Given the description of an element on the screen output the (x, y) to click on. 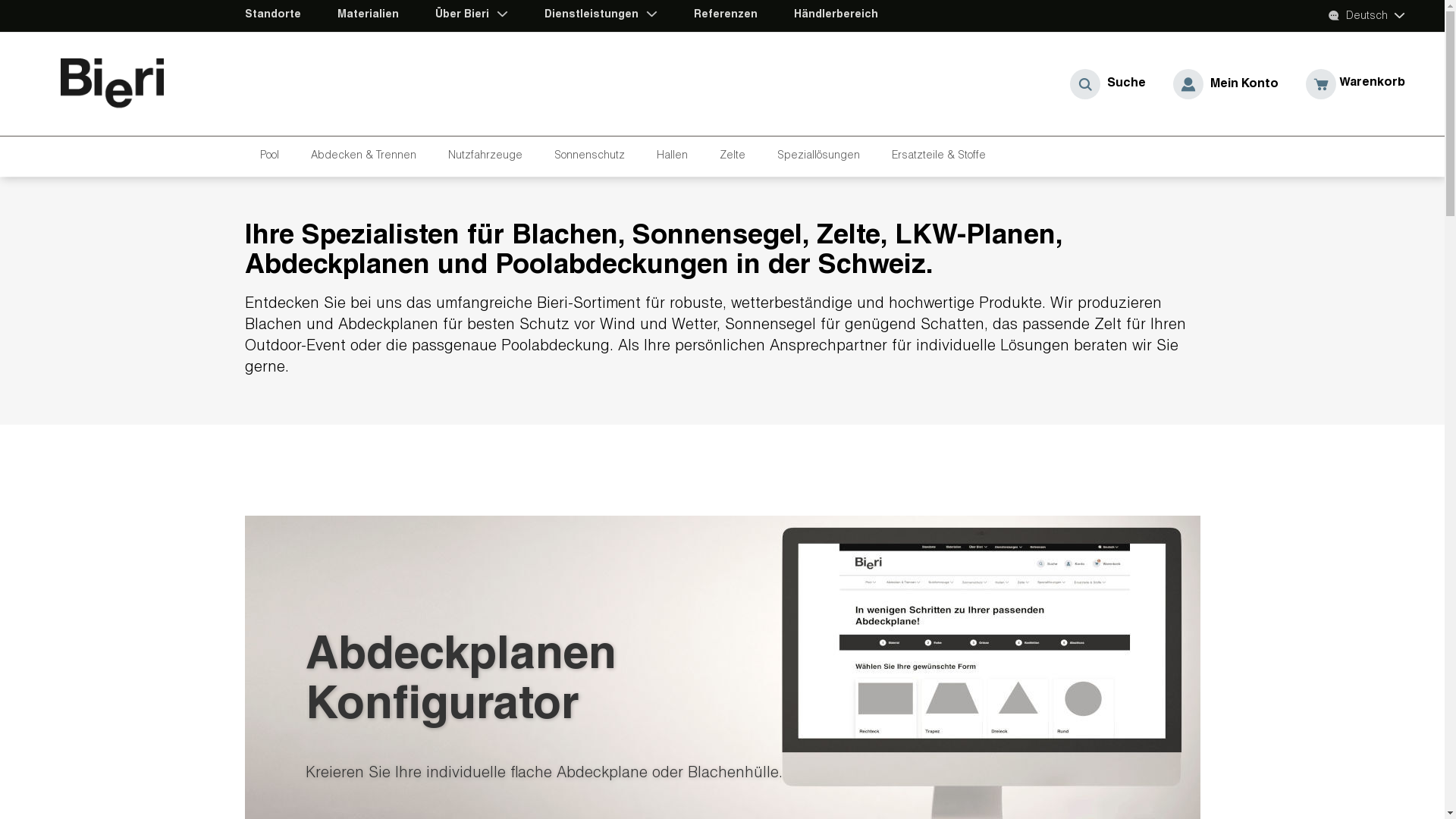
Bieri Tenta AG Element type: hover (124, 83)
Warenkorb Element type: text (1355, 84)
Zelte Element type: text (734, 156)
Mein Konto Element type: text (1224, 84)
Referenzen Element type: text (724, 14)
Standorte Element type: text (272, 14)
Materialien Element type: text (367, 14)
Hallen Element type: text (674, 156)
Pool Element type: text (271, 156)
Ersatzteile & Stoffe Element type: text (941, 156)
Abdecken & Trennen Element type: text (366, 156)
Nutzfahrzeuge Element type: text (487, 156)
Dienstleistungen Element type: text (592, 14)
Sonnenschutz Element type: text (591, 156)
